Given the description of an element on the screen output the (x, y) to click on. 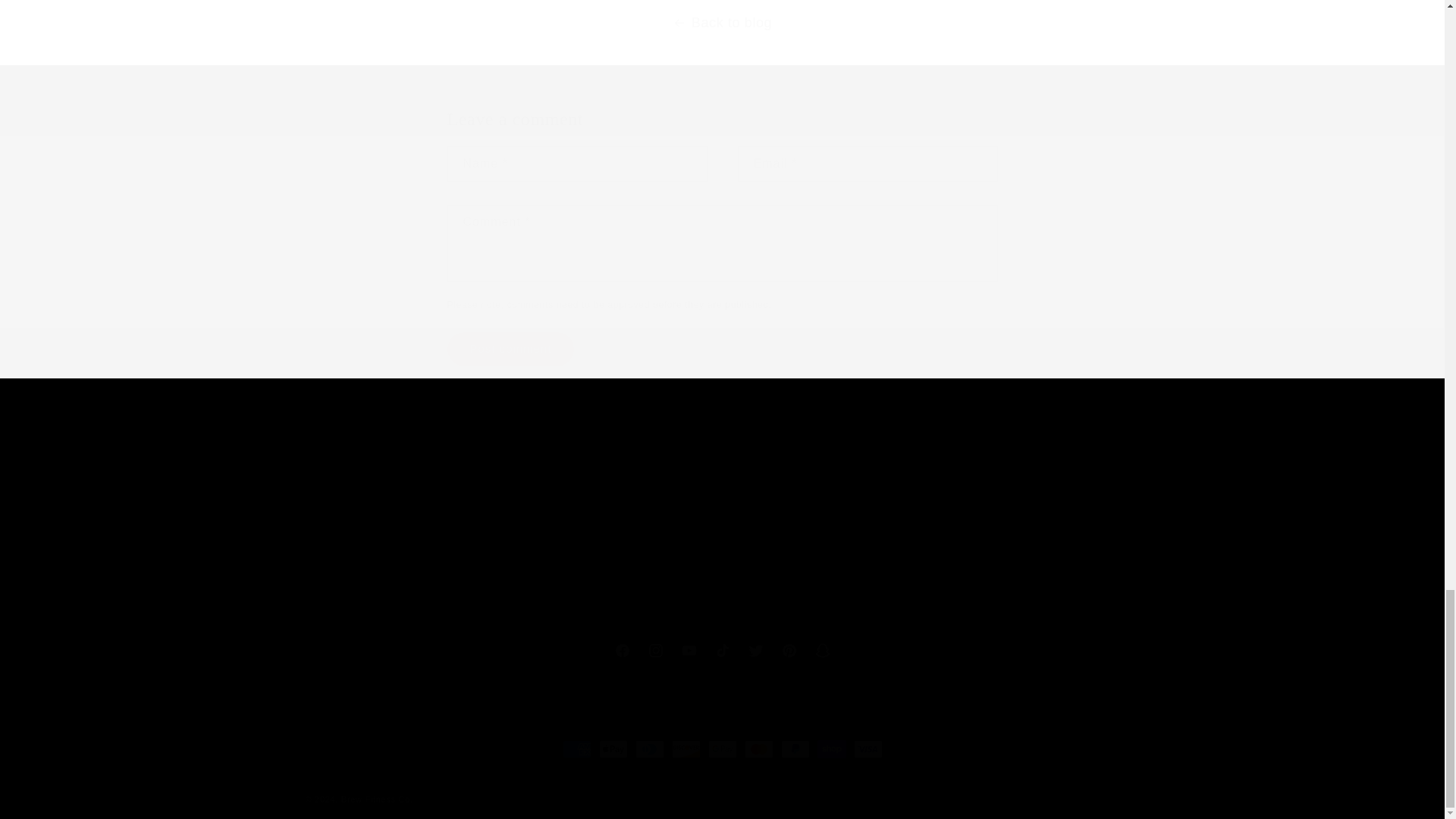
Post comment (510, 349)
